Given the description of an element on the screen output the (x, y) to click on. 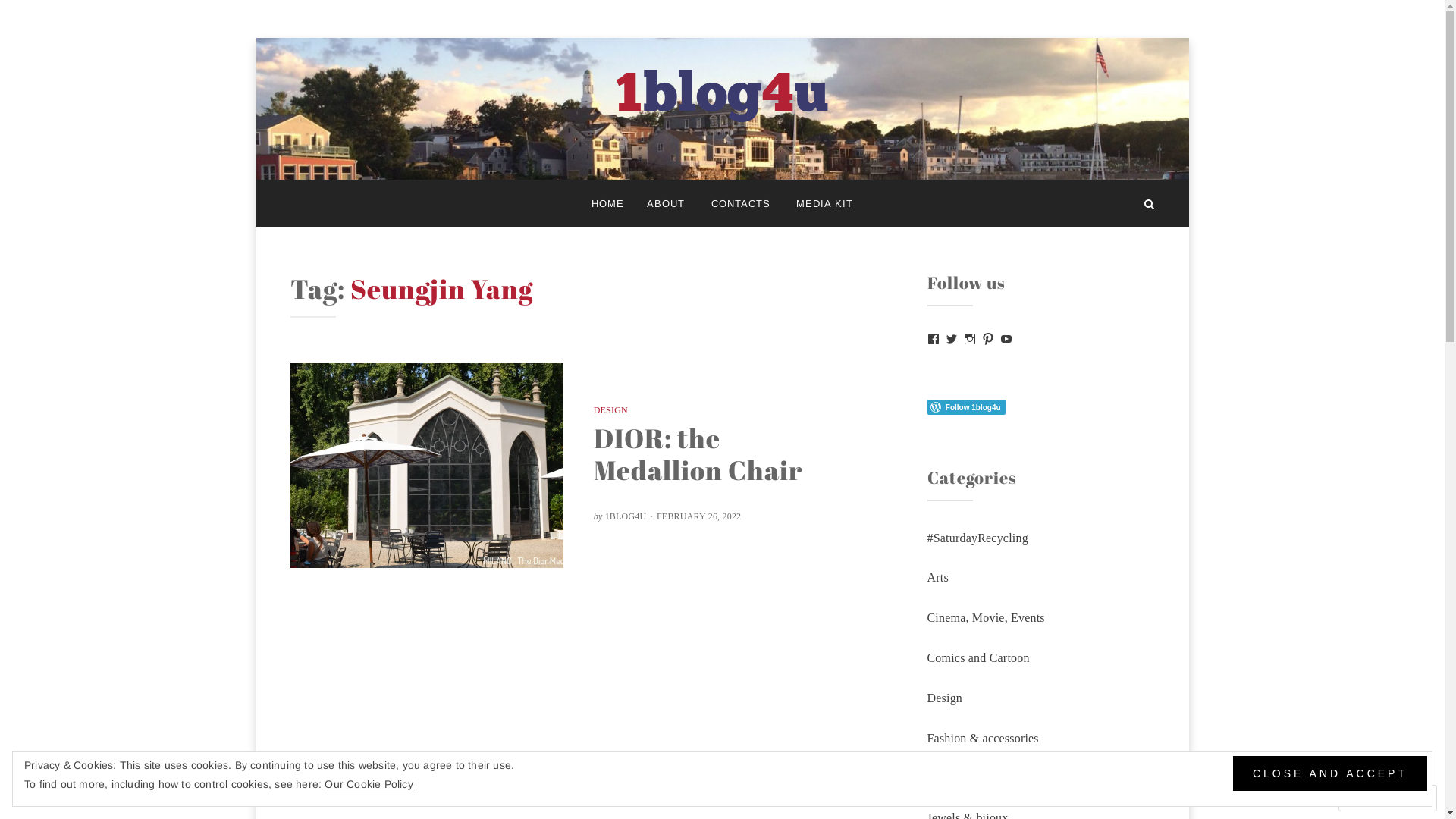
ABOUT Element type: text (665, 203)
Design Element type: text (944, 697)
Arts Element type: text (936, 577)
Follow Element type: text (1373, 797)
#SaturdayRecycling Element type: text (976, 537)
FEBRUARY 26, 2022 Element type: text (697, 516)
DESIGN Element type: text (610, 409)
Cinema, Movie, Events Element type: text (985, 617)
Follow Button Element type: hover (1040, 406)
1BLOG4U Element type: text (386, 158)
CONTACTS Element type: text (740, 203)
1BLOG4U Element type: text (625, 516)
Comics and Cartoon Element type: text (977, 657)
HOME Element type: text (607, 203)
DIOR: the Medallion Chair Element type: text (697, 453)
Interviews Element type: text (952, 777)
Close and accept Element type: text (1330, 773)
MEDIA KIT Element type: text (824, 203)
Search Element type: text (50, 17)
Our Cookie Policy Element type: text (368, 784)
Fashion & accessories Element type: text (982, 737)
Search Element type: hover (1148, 203)
